Given the description of an element on the screen output the (x, y) to click on. 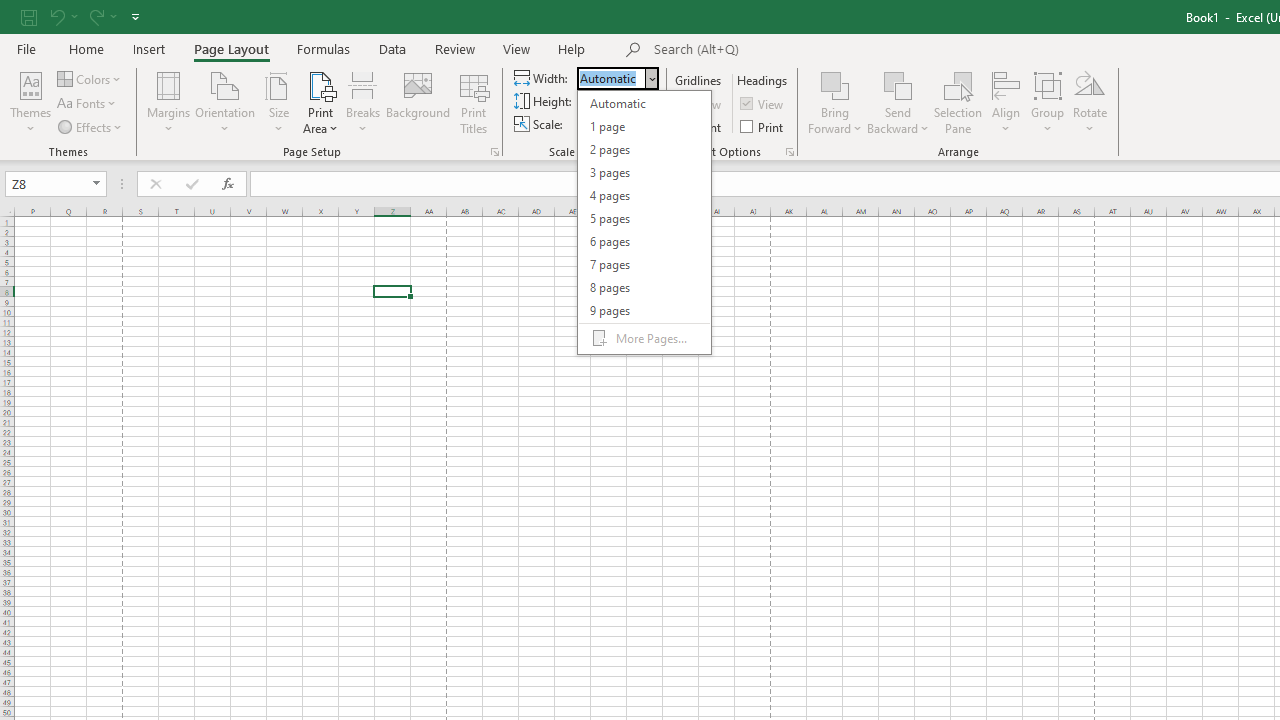
More (633, 118)
Selection Pane... (958, 102)
Orientation (225, 102)
Themes (30, 102)
Customize Quick Access Toolbar (135, 15)
1 page (644, 126)
Size (278, 102)
More Pages... (644, 338)
Bring Forward (835, 84)
Page Setup (658, 151)
8 pages (644, 286)
Data (392, 48)
Page Layout (230, 48)
Bring Forward (835, 102)
Print Area (320, 102)
